Given the description of an element on the screen output the (x, y) to click on. 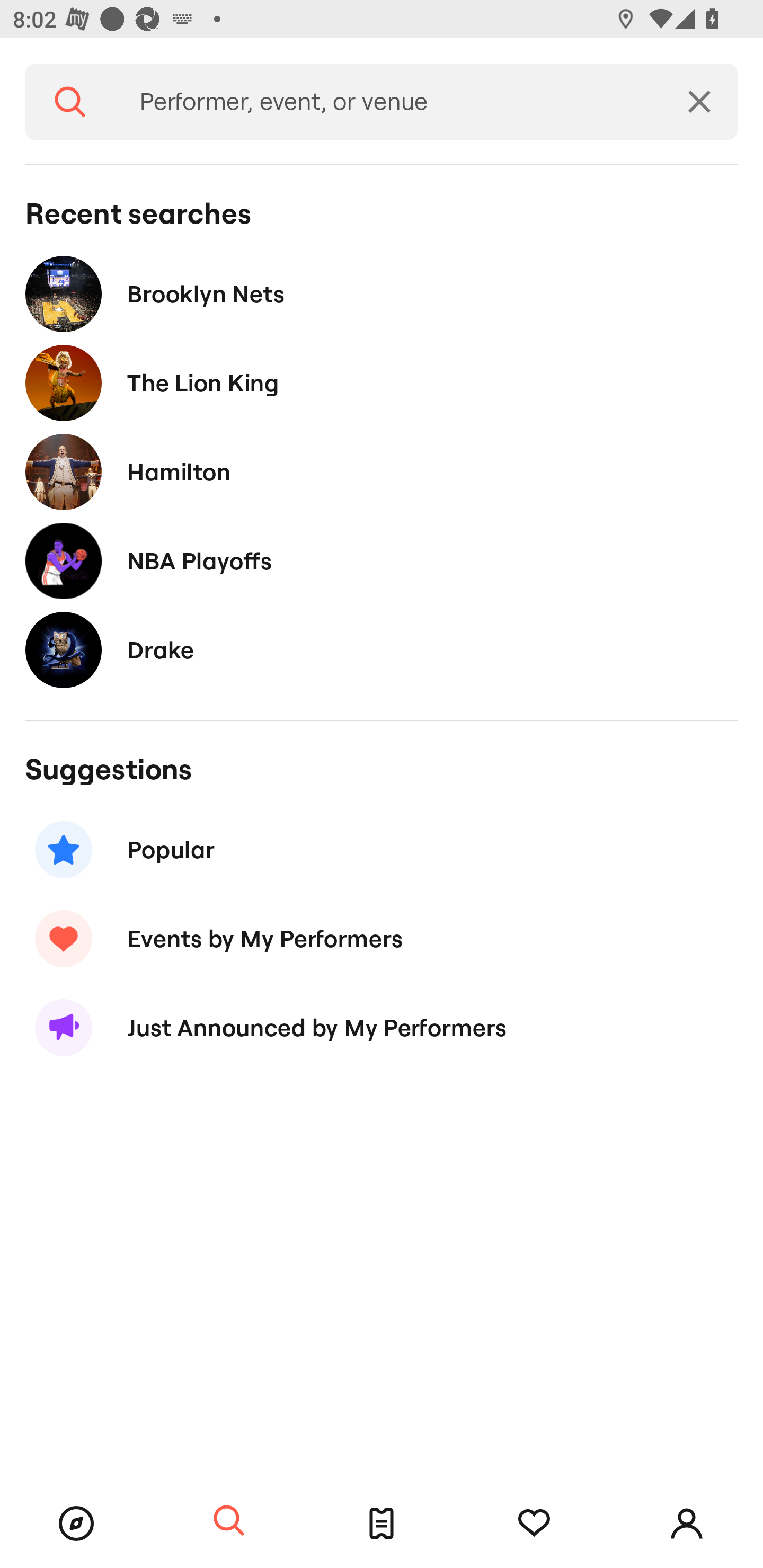
Search (69, 101)
Performer, event, or venue (387, 101)
Clear (699, 101)
Brooklyn Nets (381, 293)
The Lion King (381, 383)
Hamilton (381, 471)
NBA Playoffs (381, 560)
Drake (381, 649)
Popular (381, 849)
Events by My Performers (381, 938)
Just Announced by My Performers (381, 1027)
Browse (76, 1523)
Search (228, 1521)
Tickets (381, 1523)
Tracking (533, 1523)
Account (686, 1523)
